Given the description of an element on the screen output the (x, y) to click on. 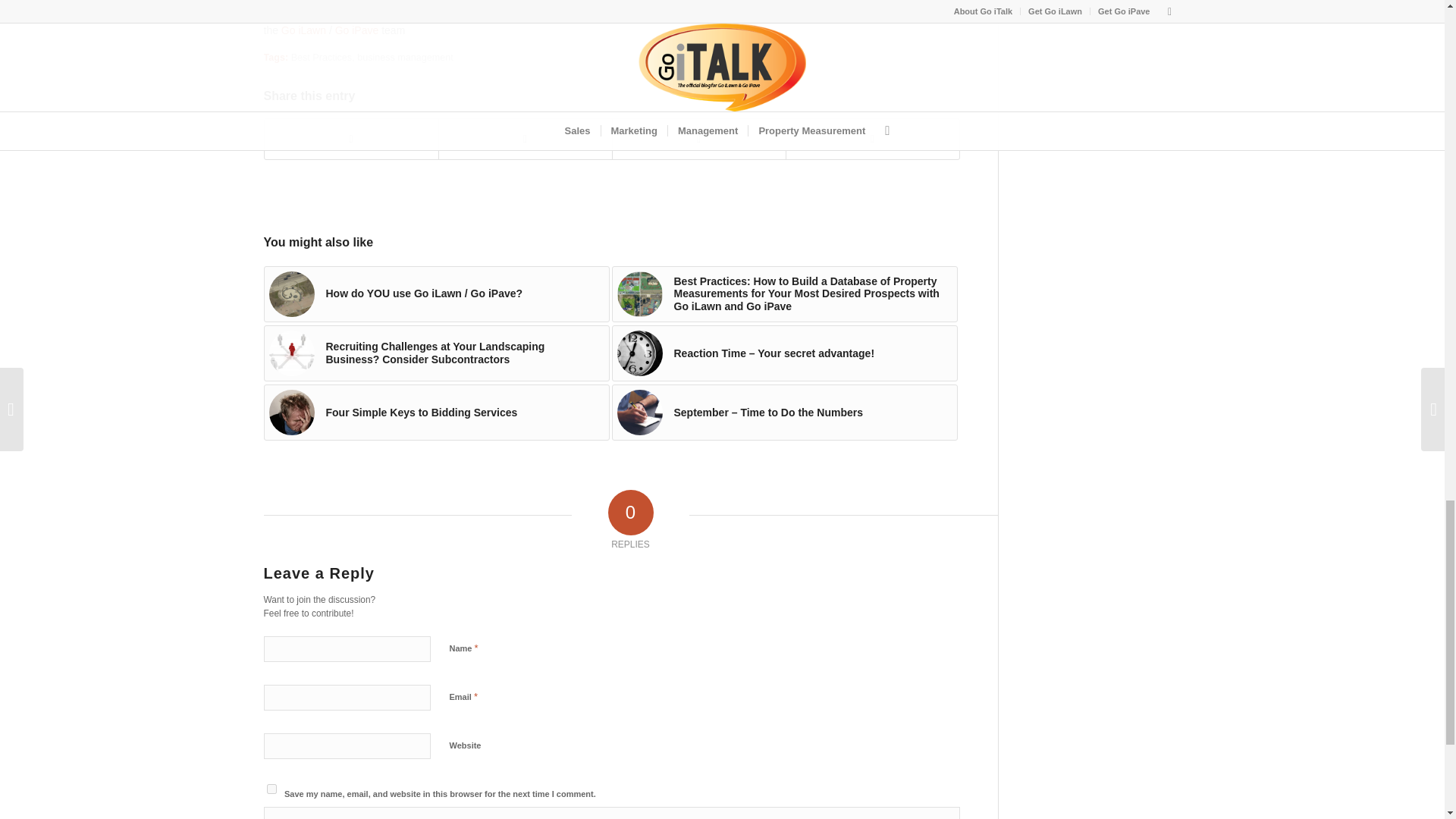
Four Simple Keys to Bidding Services (436, 412)
business management (404, 57)
Go iLawn Spring Services Collage wl (639, 293)
Go iLawn (303, 30)
yes (271, 788)
Go iPave (356, 30)
Best Practices (321, 57)
Labor Statue in Detroit (290, 293)
